Given the description of an element on the screen output the (x, y) to click on. 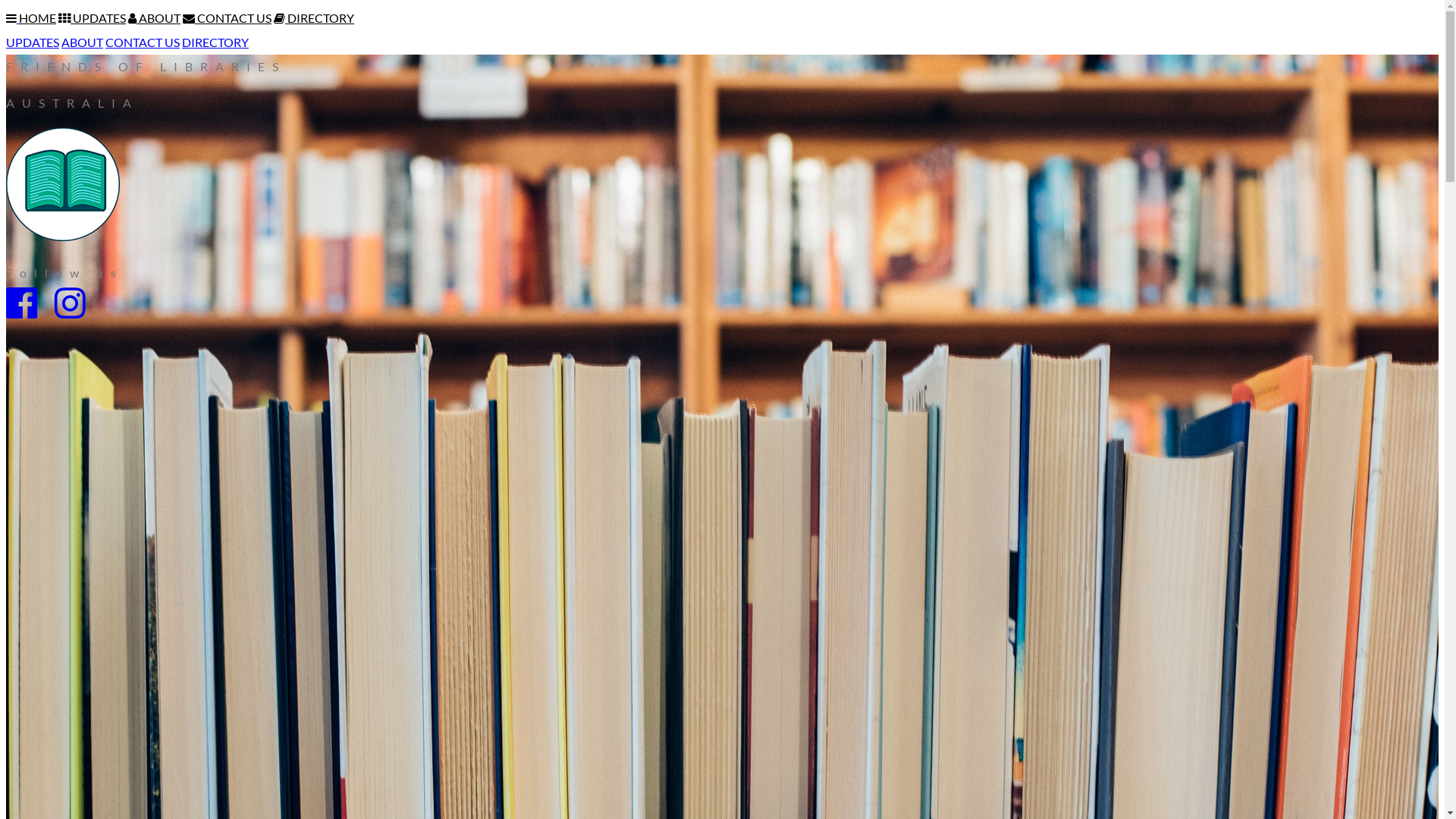
ABOUT Element type: text (154, 17)
HOME Element type: text (37, 17)
CONTACT US Element type: text (226, 17)
DIRECTORY Element type: text (215, 41)
CONTACT US Element type: text (142, 41)
ABOUT Element type: text (82, 41)
DIRECTORY Element type: text (313, 17)
UPDATES Element type: text (32, 41)
Toggle Navigation Menu Element type: hover (12, 17)
UPDATES Element type: text (91, 17)
